Given the description of an element on the screen output the (x, y) to click on. 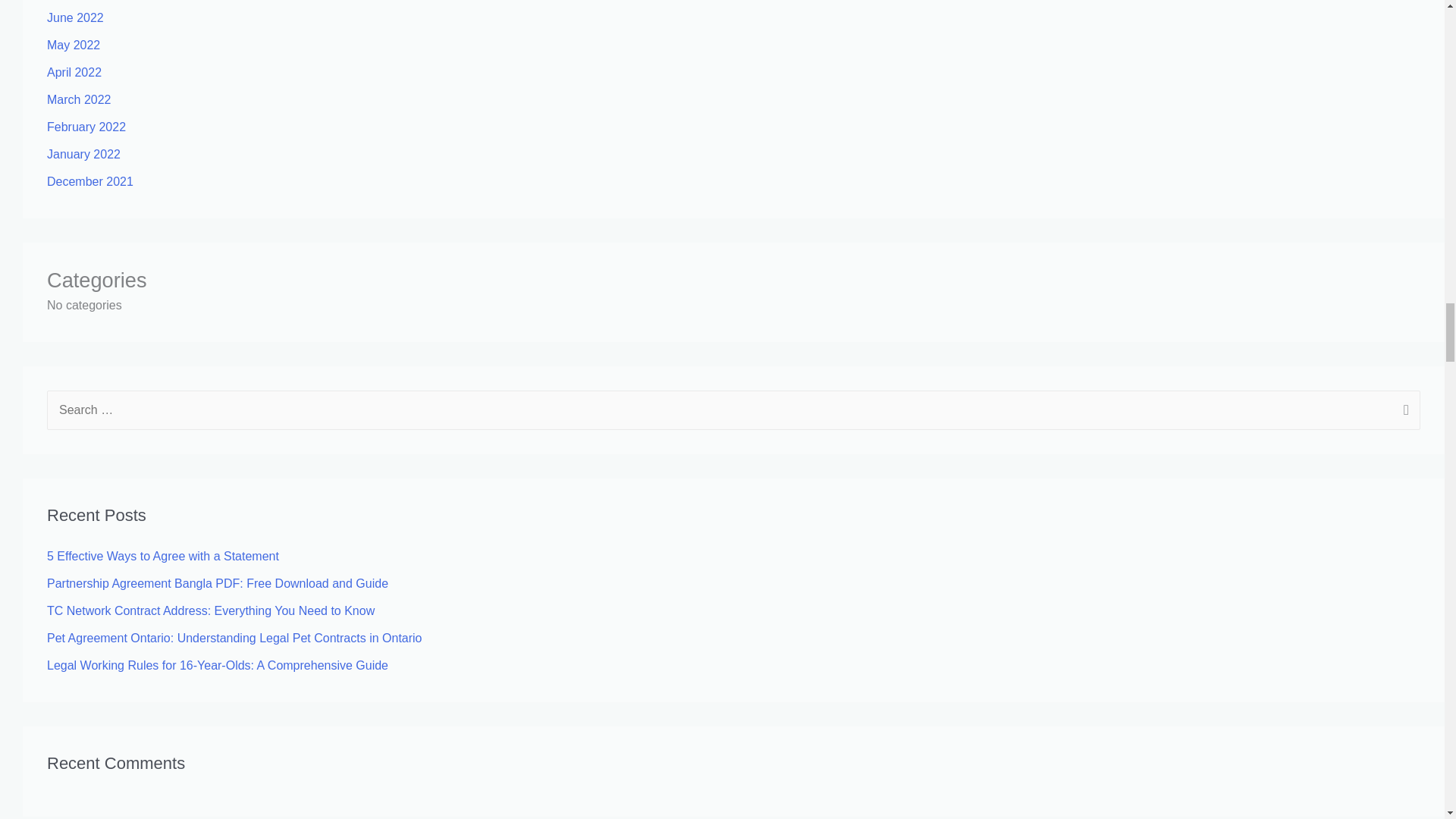
February 2022 (85, 126)
5 Effective Ways to Agree with a Statement (162, 555)
March 2022 (79, 99)
May 2022 (73, 44)
April 2022 (73, 72)
TC Network Contract Address: Everything You Need to Know (210, 610)
Partnership Agreement Bangla PDF: Free Download and Guide (217, 583)
December 2021 (89, 181)
January 2022 (83, 154)
June 2022 (74, 17)
